Given the description of an element on the screen output the (x, y) to click on. 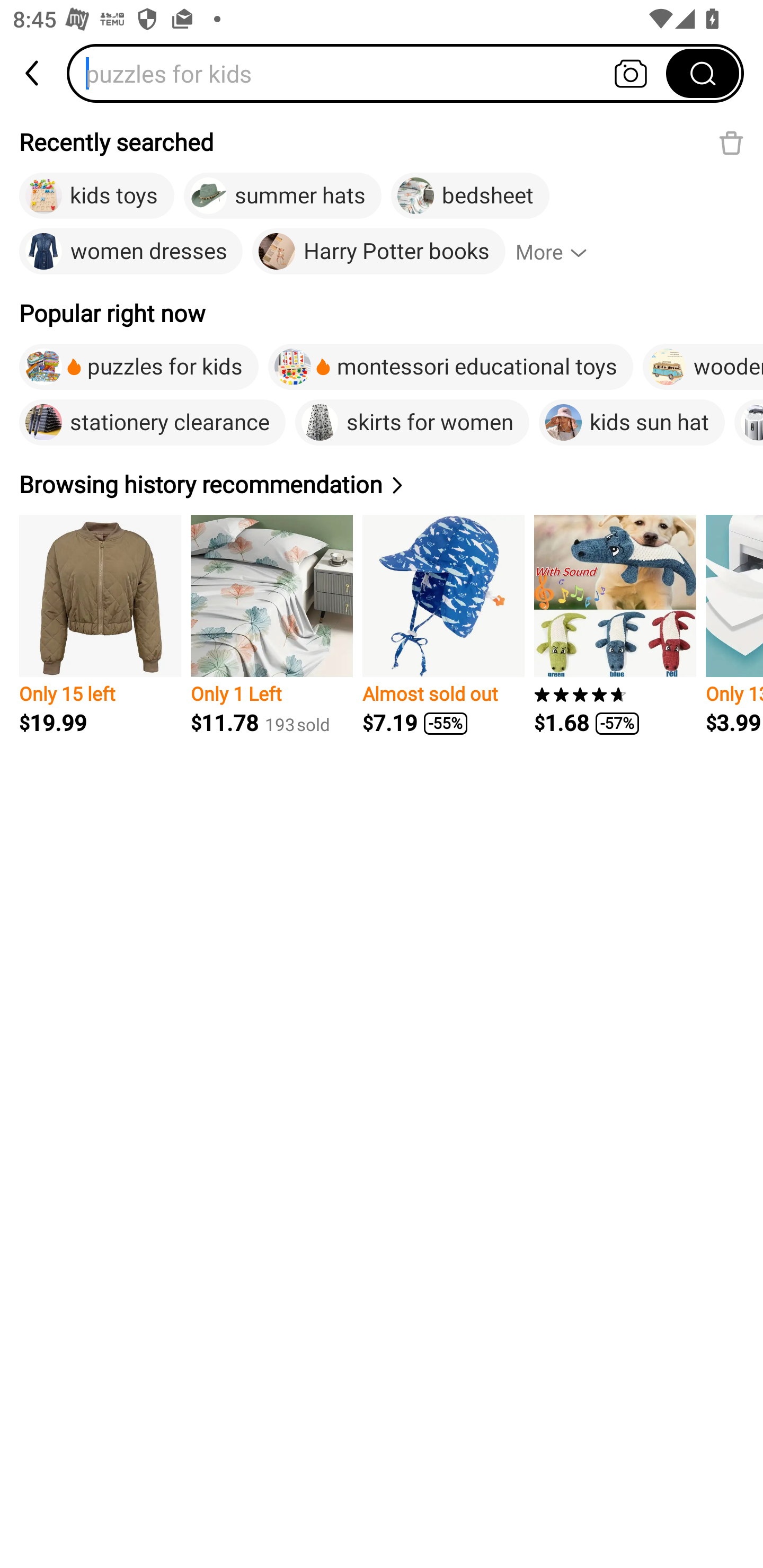
back (33, 72)
puzzles for kids (372, 73)
Search by photo (630, 73)
Delete recent search (731, 142)
kids toys (96, 195)
summer hats (282, 195)
bedsheet (469, 195)
women dresses (130, 251)
Harry Potter books (378, 251)
More (559, 251)
puzzles for kids (138, 366)
montessori educational toys (450, 366)
wooden puzzle (702, 366)
stationery clearance (152, 422)
skirts for women (412, 422)
kids sun hat (631, 422)
Browsing history recommendation (213, 484)
Only 15 left $19.99 (100, 625)
Only 1 Left $11.78 193￼sold (271, 625)
Almost sold out $7.19 -55% (443, 625)
$1.68 -57% (614, 625)
